Given the description of an element on the screen output the (x, y) to click on. 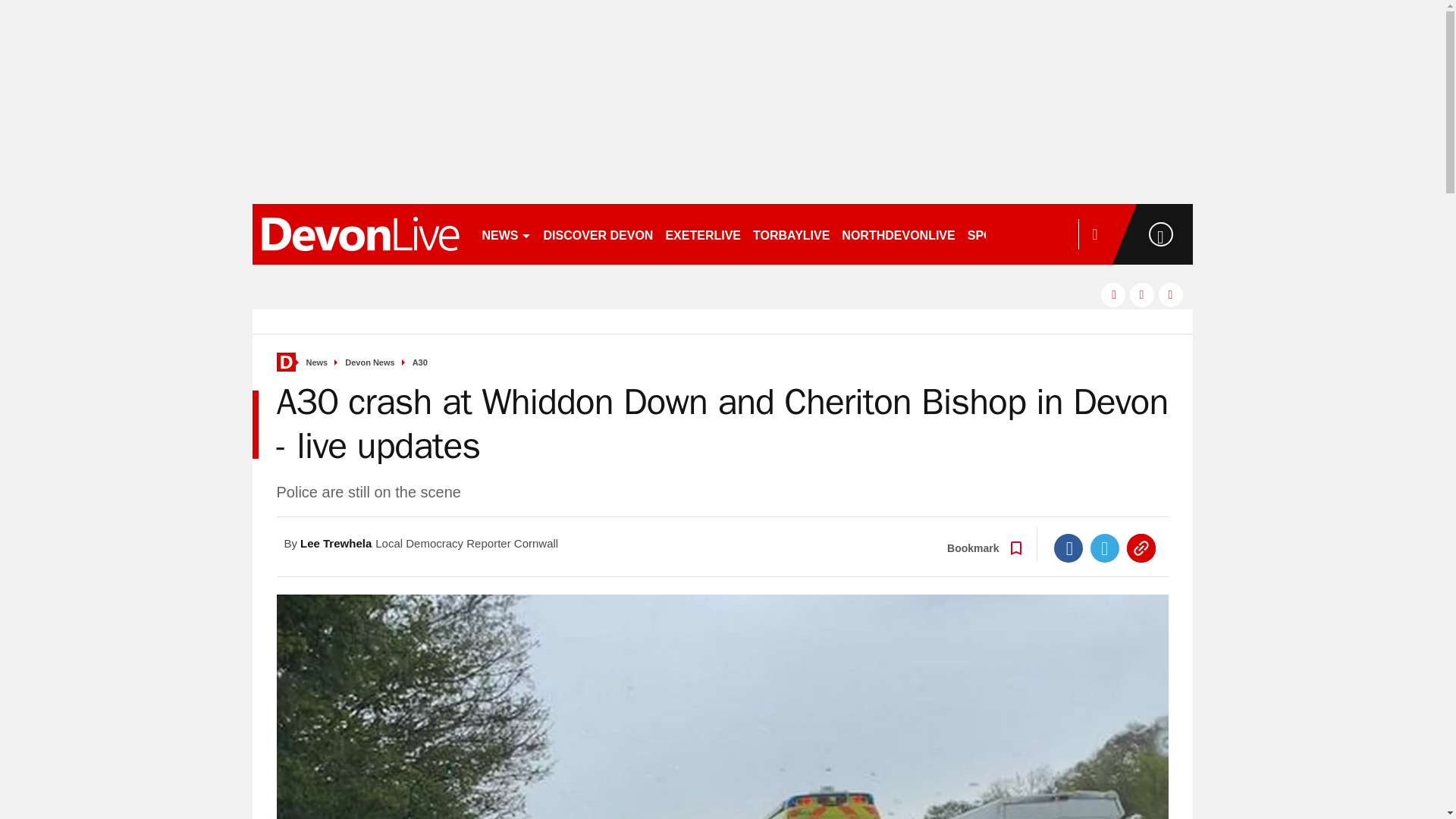
Twitter (1104, 547)
twitter (1141, 294)
devonlive (359, 233)
SPORT (993, 233)
instagram (1170, 294)
NEWS (506, 233)
NORTHDEVONLIVE (897, 233)
DISCOVER DEVON (598, 233)
facebook (1112, 294)
Facebook (1068, 547)
TORBAYLIVE (790, 233)
EXETERLIVE (702, 233)
